Given the description of an element on the screen output the (x, y) to click on. 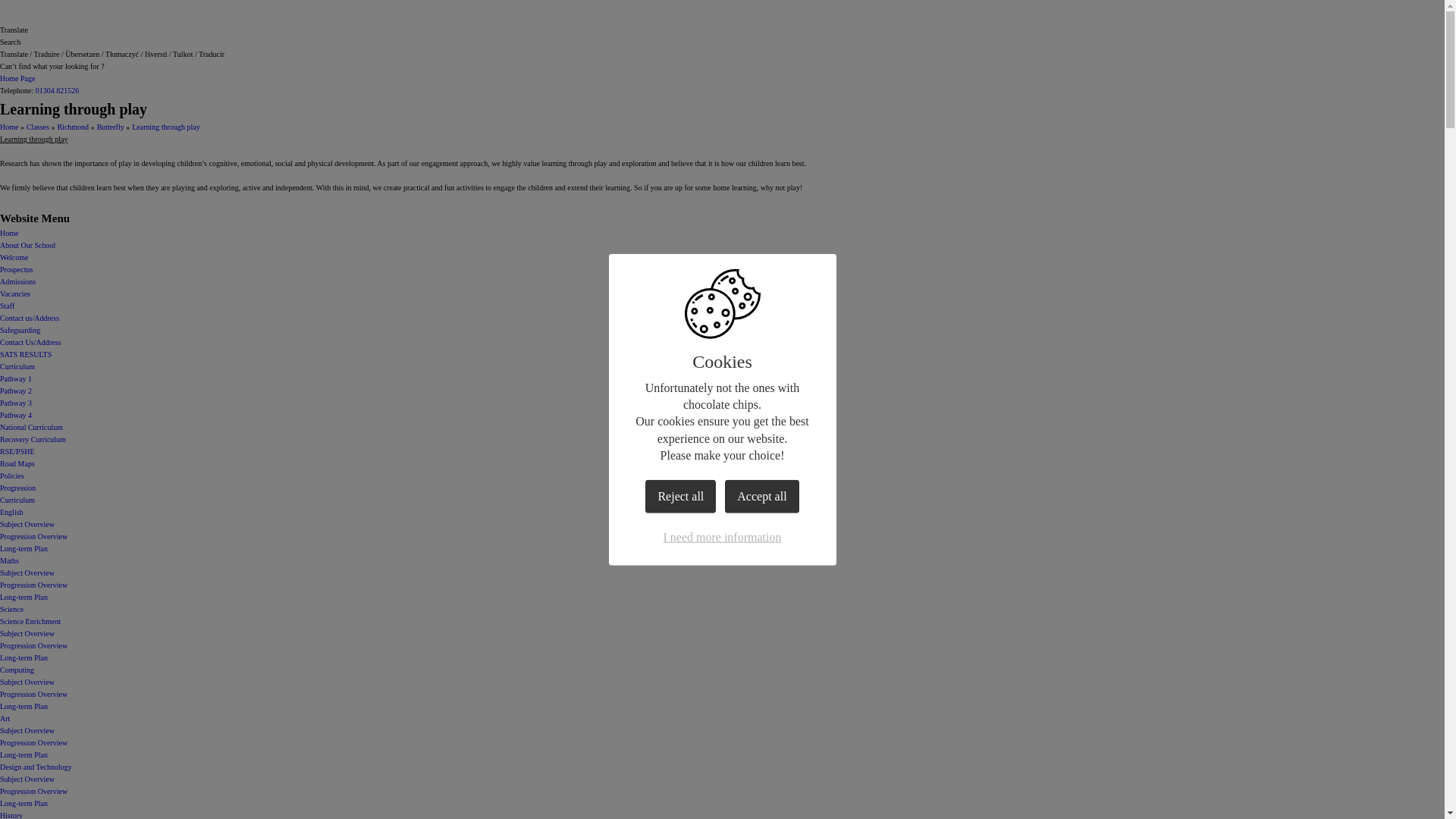
Road Maps (17, 463)
English (11, 511)
Home Page (17, 78)
Classes (37, 126)
Vacancies (15, 293)
Home Page (17, 78)
Richmond (72, 126)
Pathway 4 (16, 415)
Progression Overview (33, 584)
Home (8, 233)
Admissions (17, 281)
Welcome (14, 257)
Progression Overview (33, 536)
Long-term Plan (24, 596)
Subject Overview (27, 524)
